Given the description of an element on the screen output the (x, y) to click on. 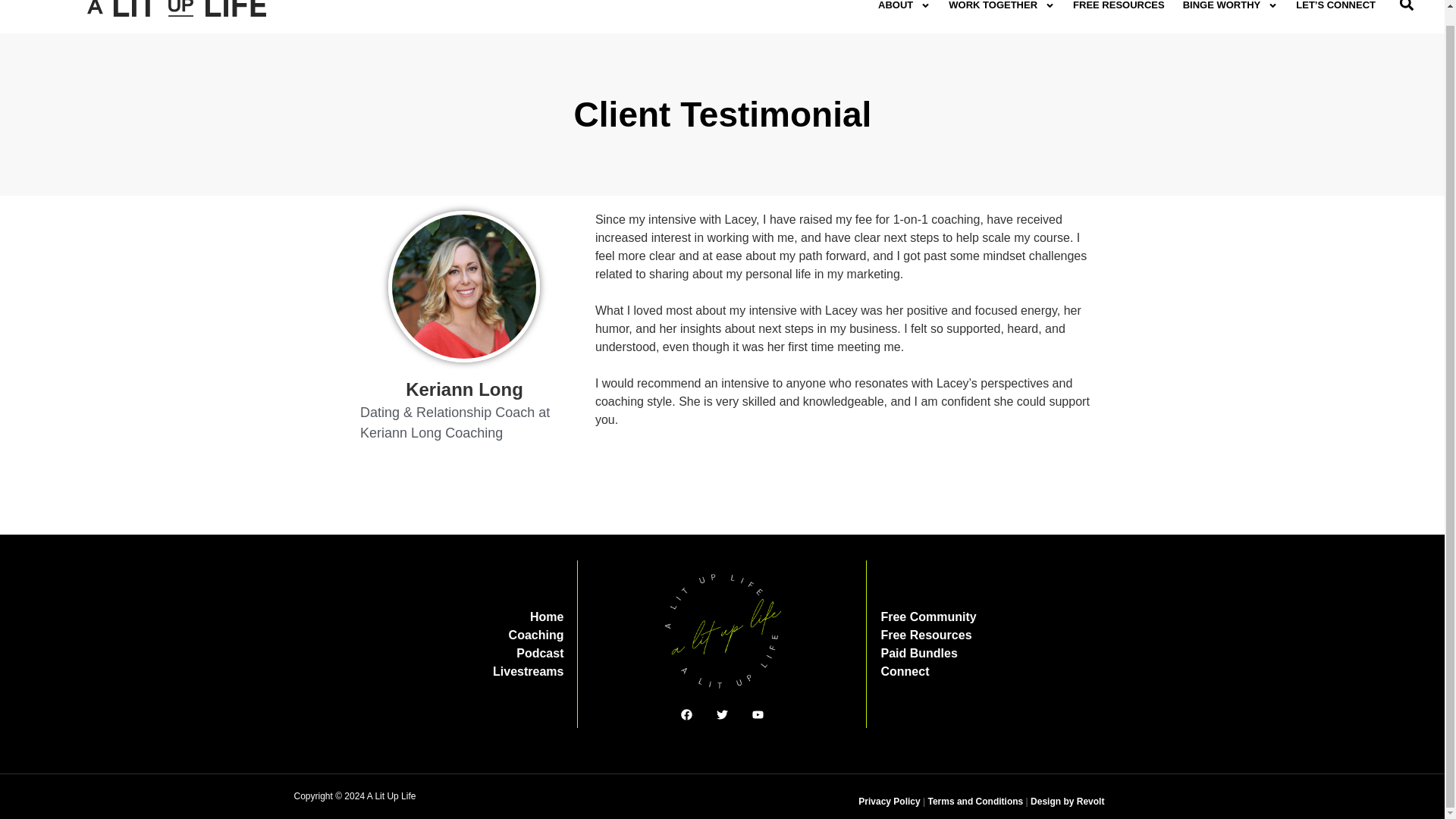
FREE RESOURCES (1118, 11)
BINGE WORTHY (1230, 11)
WORK TOGETHER (1001, 11)
ABOUT (903, 11)
